Given the description of an element on the screen output the (x, y) to click on. 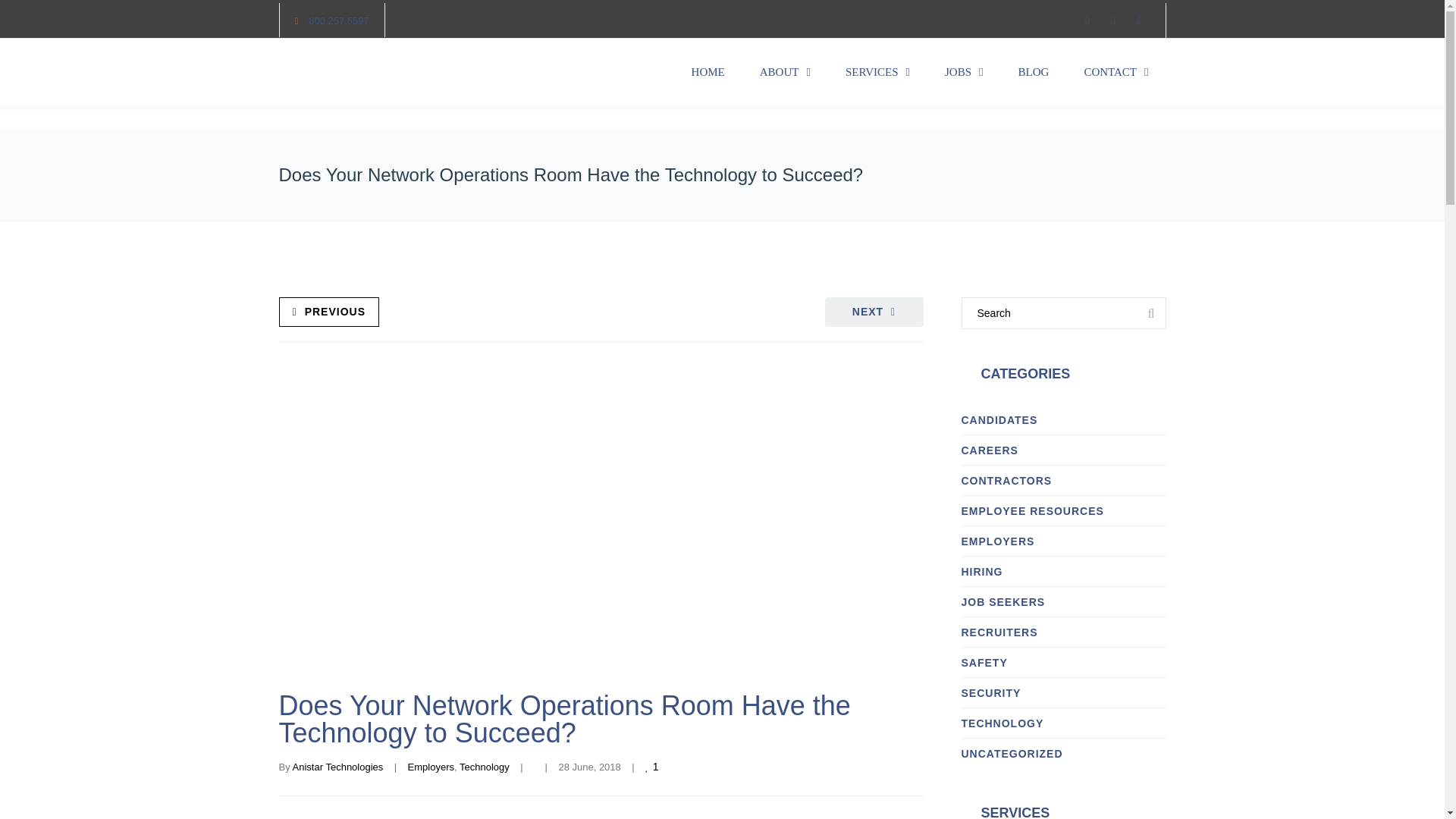
HOME (708, 72)
Posts by Anistar Technologies (338, 767)
800.257.5597 (338, 20)
Anistar Technologies (338, 767)
BLOG (1034, 72)
NEXT (874, 311)
SERVICES (877, 72)
PREVIOUS (328, 311)
CONTACT (1115, 72)
